Given the description of an element on the screen output the (x, y) to click on. 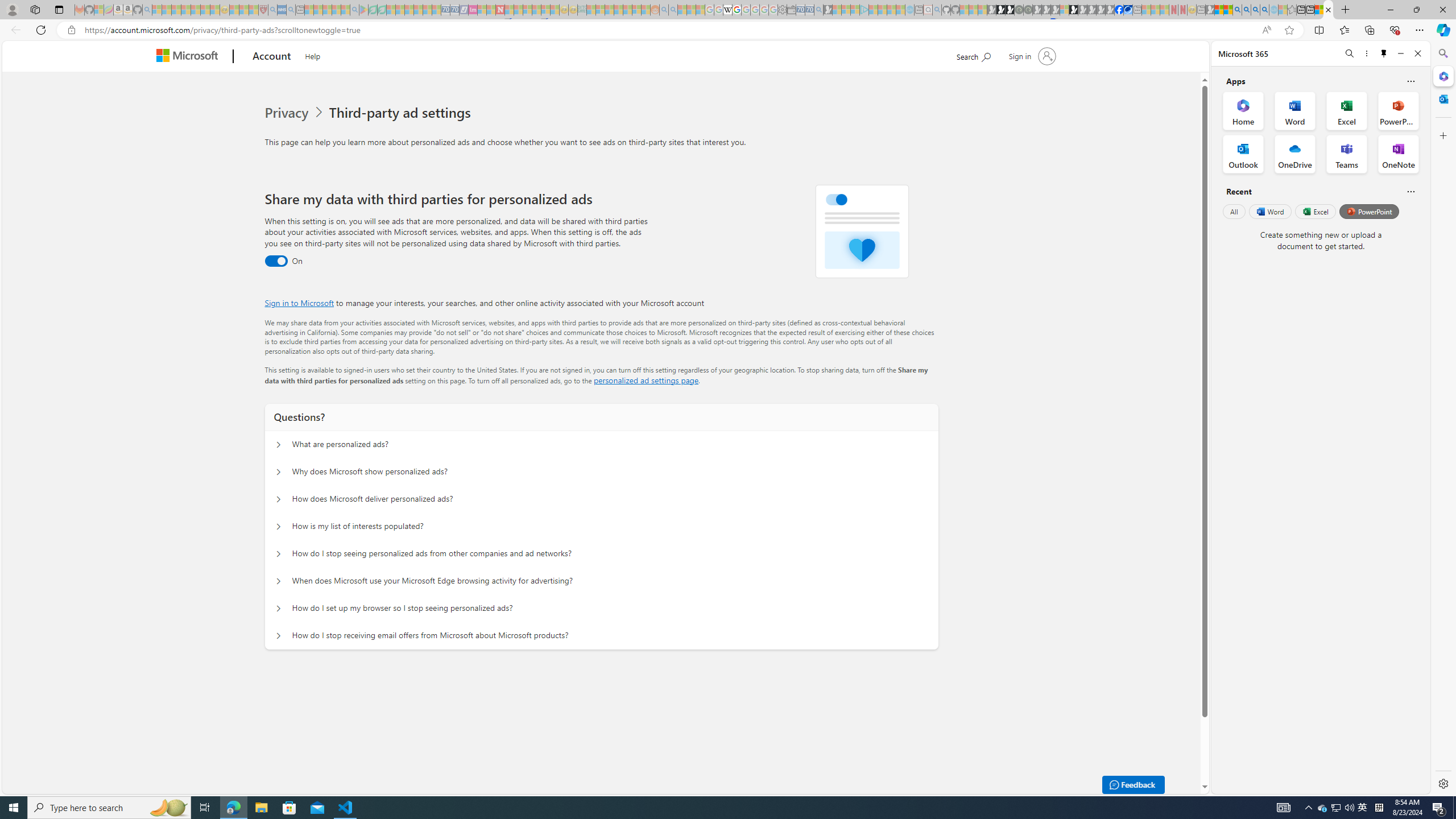
Questions? What are personalized ads? (278, 444)
